Given the description of an element on the screen output the (x, y) to click on. 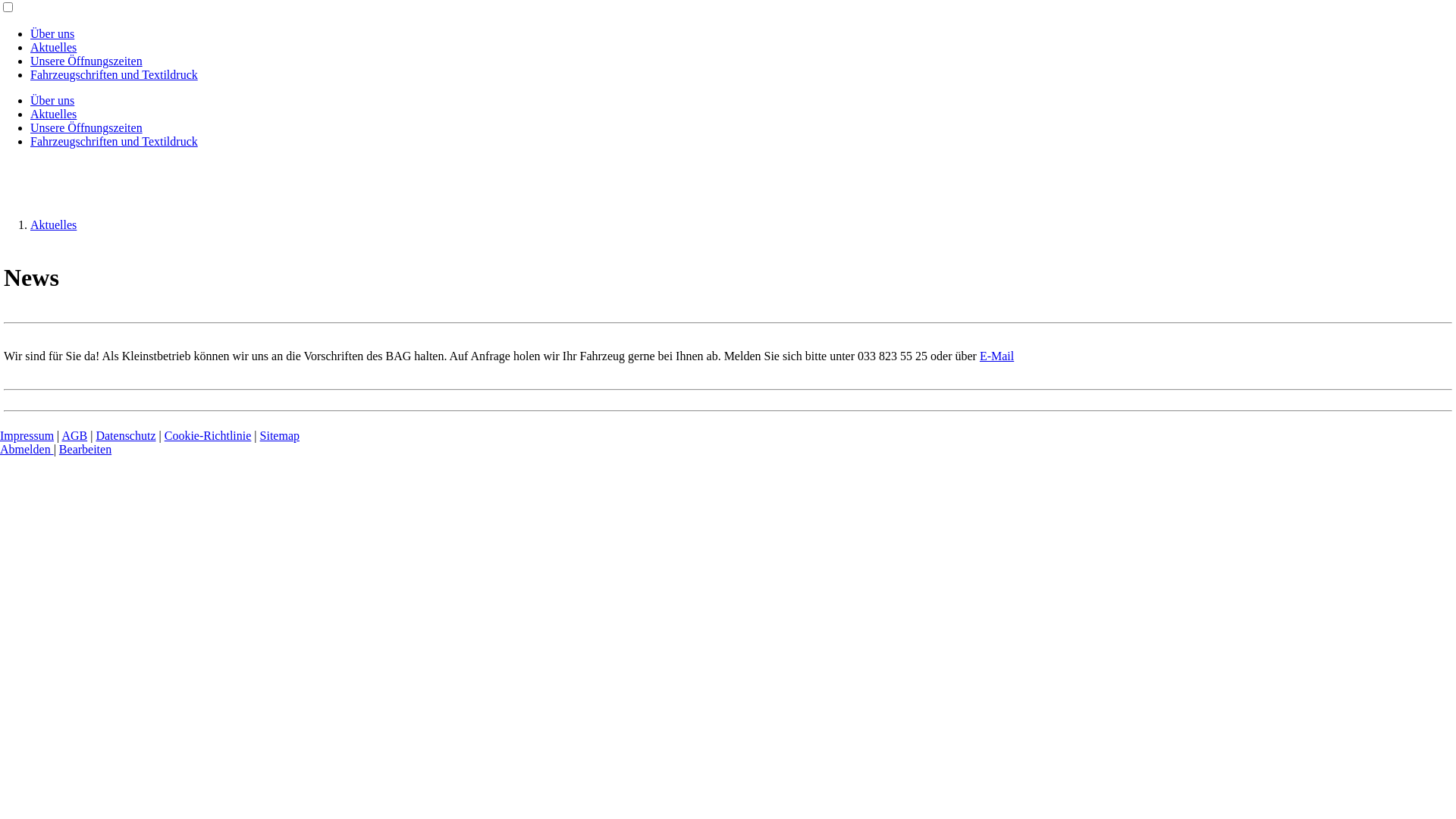
E-Mail Element type: text (996, 355)
Fahrzeugschriften und Textildruck Element type: text (113, 74)
Bearbeiten Element type: text (85, 448)
Sitemap Element type: text (279, 435)
Aktuelles Element type: text (53, 113)
AGB Element type: text (74, 435)
Aktuelles Element type: text (53, 224)
Impressum Element type: text (26, 435)
Datenschutz Element type: text (125, 435)
Cookie-Richtlinie Element type: text (207, 435)
Aktuelles Element type: text (53, 46)
Fahrzeugschriften und Textildruck Element type: text (113, 140)
Abmelden Element type: text (26, 448)
